Given the description of an element on the screen output the (x, y) to click on. 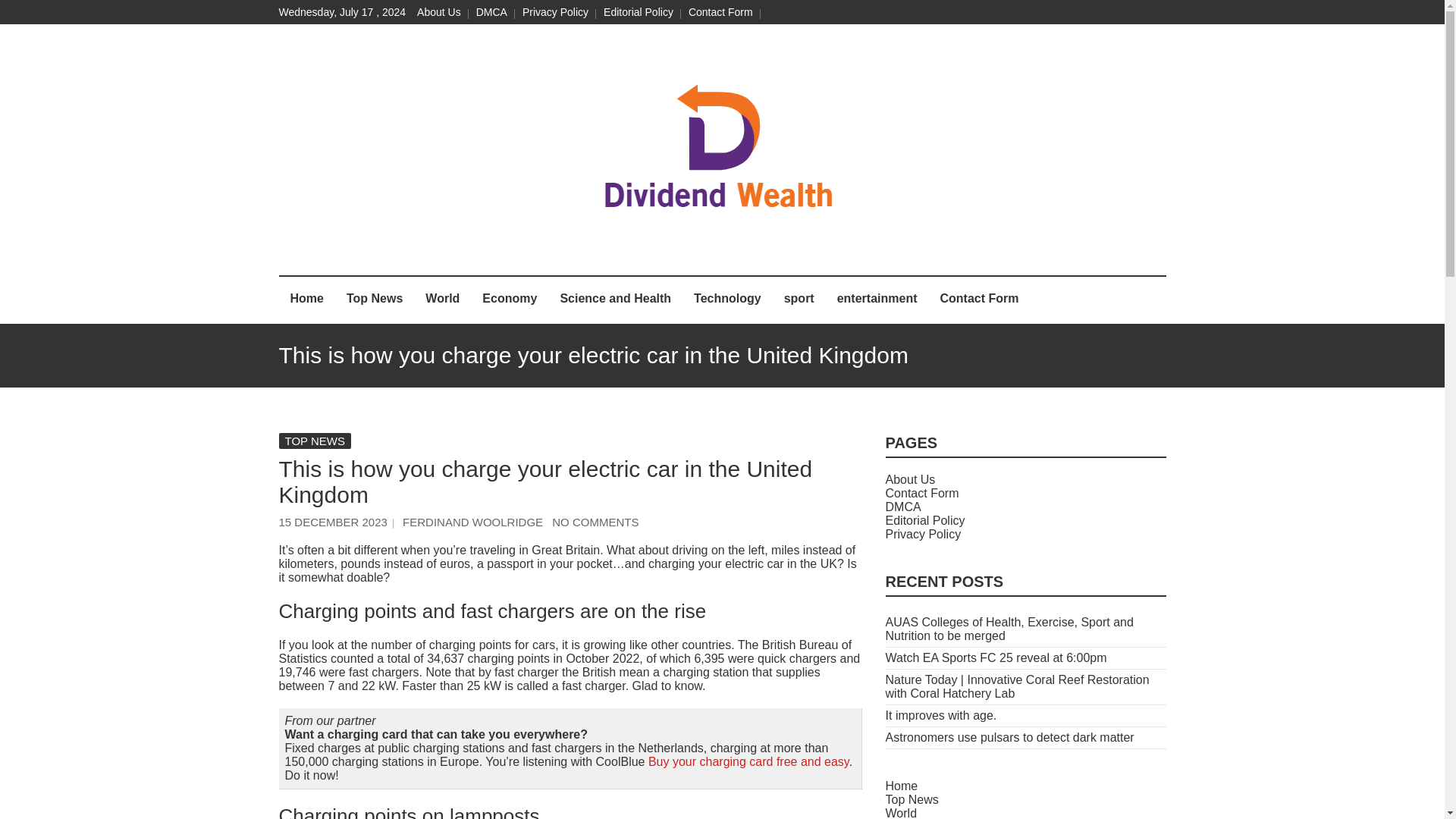
Home (901, 785)
About Us (438, 11)
FERDINAND WOOLRIDGE (473, 521)
Dividend Wealth (525, 251)
Astronomers use pulsars to detect dark matter (1009, 737)
DMCA (491, 11)
Home (306, 299)
Top News (373, 299)
World (441, 299)
Privacy Policy (922, 533)
NO COMMENTS (595, 521)
Watch EA Sports FC 25 reveal at 6:00pm (995, 657)
Technology (727, 299)
Contact Form (978, 299)
